Given the description of an element on the screen output the (x, y) to click on. 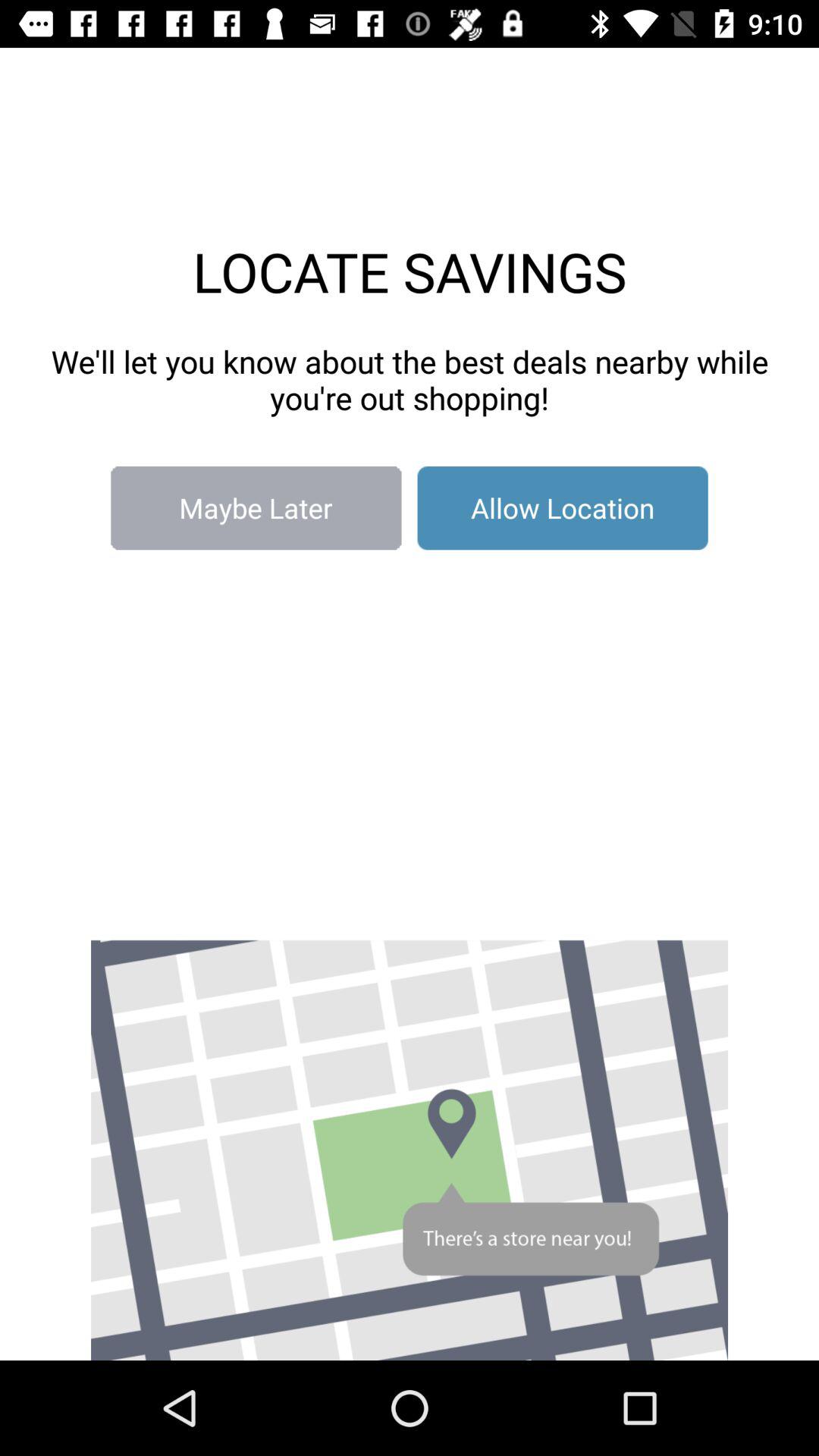
tap the app next to the maybe later (562, 507)
